Given the description of an element on the screen output the (x, y) to click on. 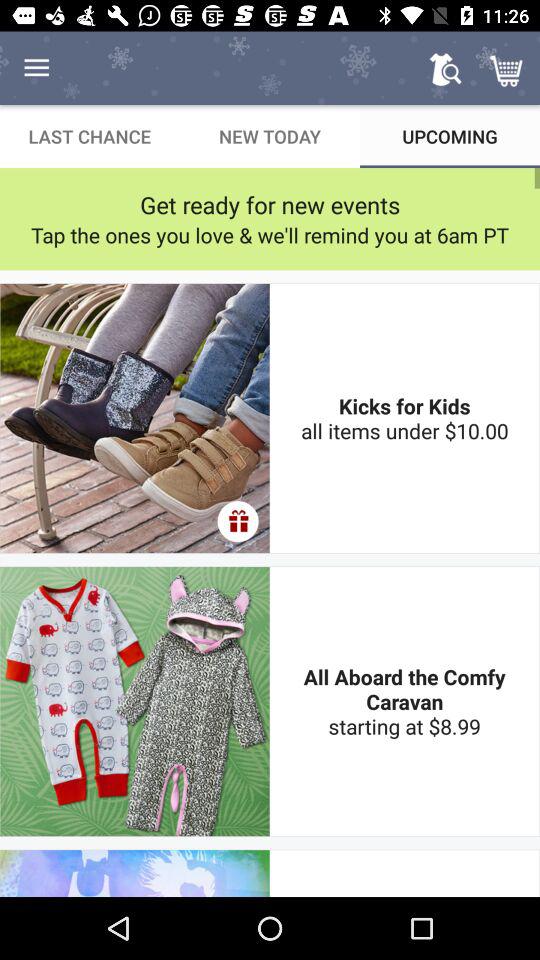
scroll to get ready for (270, 204)
